Given the description of an element on the screen output the (x, y) to click on. 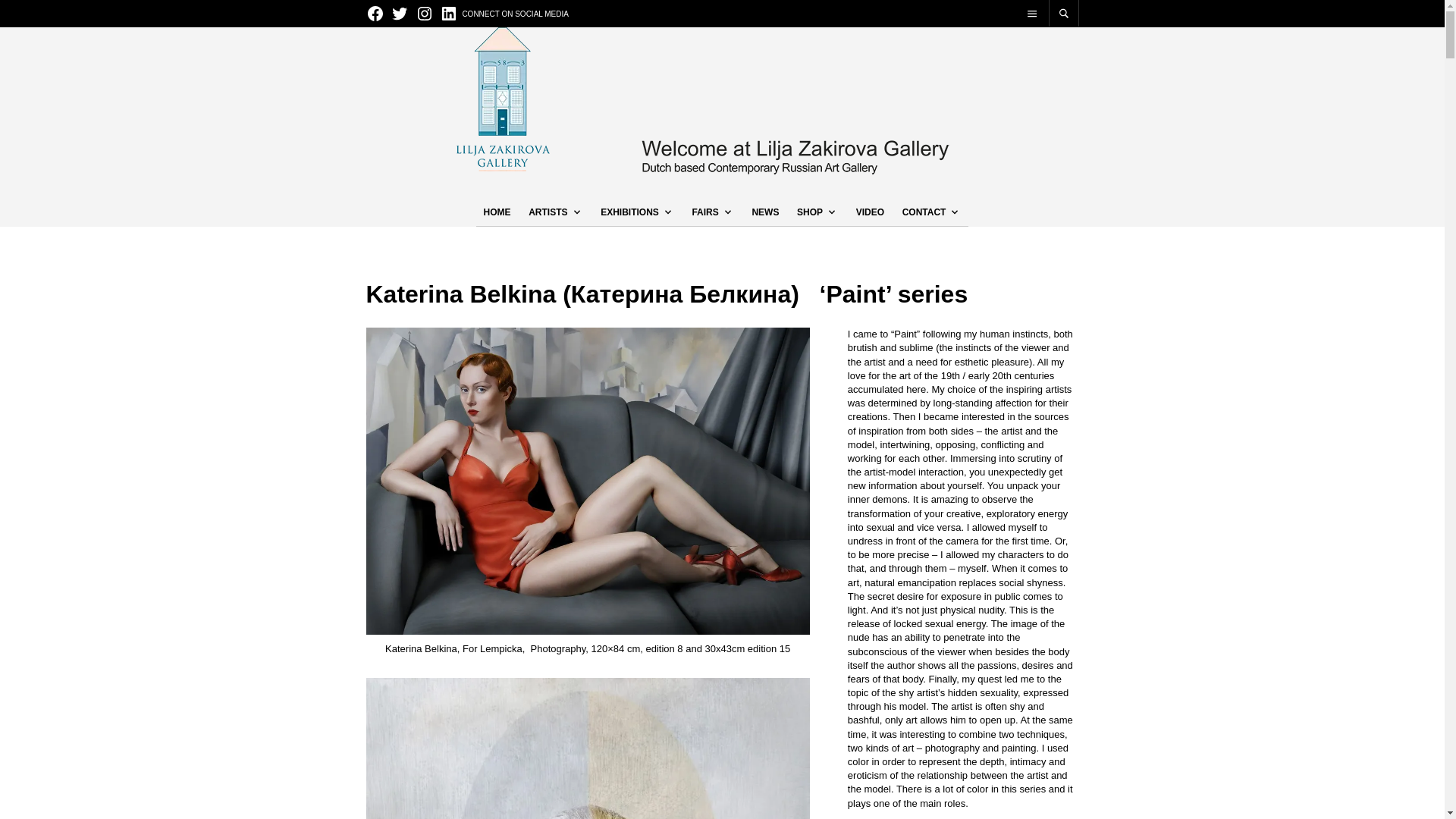
LinkedIn (448, 13)
Instagram (423, 13)
HOME (497, 212)
ARTISTS (551, 212)
Twitter (399, 13)
Facebook (374, 13)
